Given the description of an element on the screen output the (x, y) to click on. 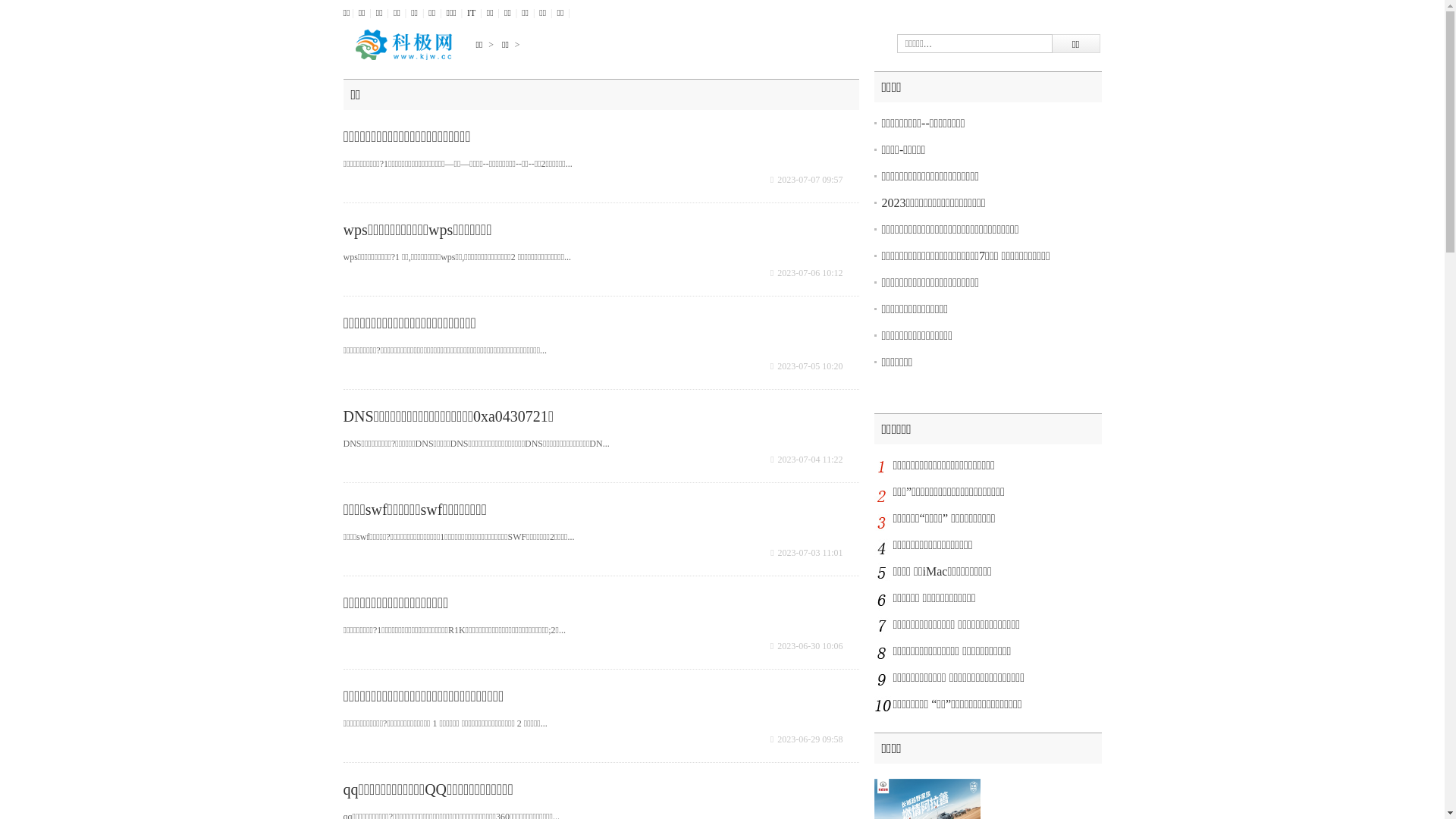
IT Element type: text (470, 12)
